Given the description of an element on the screen output the (x, y) to click on. 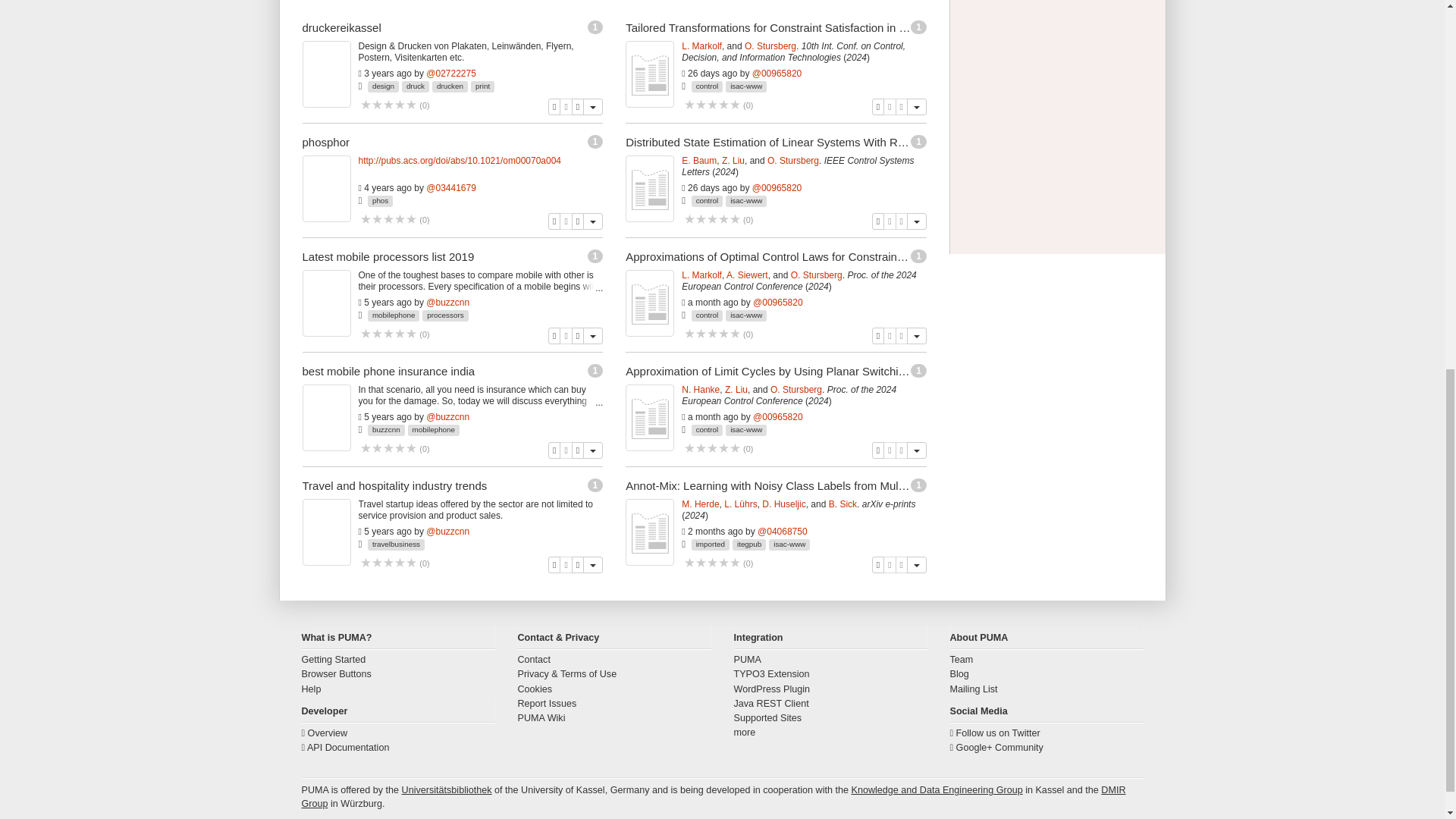
1 post in the system (596, 26)
druckereikassel (340, 27)
comment or review this web page (387, 104)
Aug 1, 2021, 5:58 PM, changed on Aug 1, 2021, 5:58 PM (388, 72)
